Given the description of an element on the screen output the (x, y) to click on. 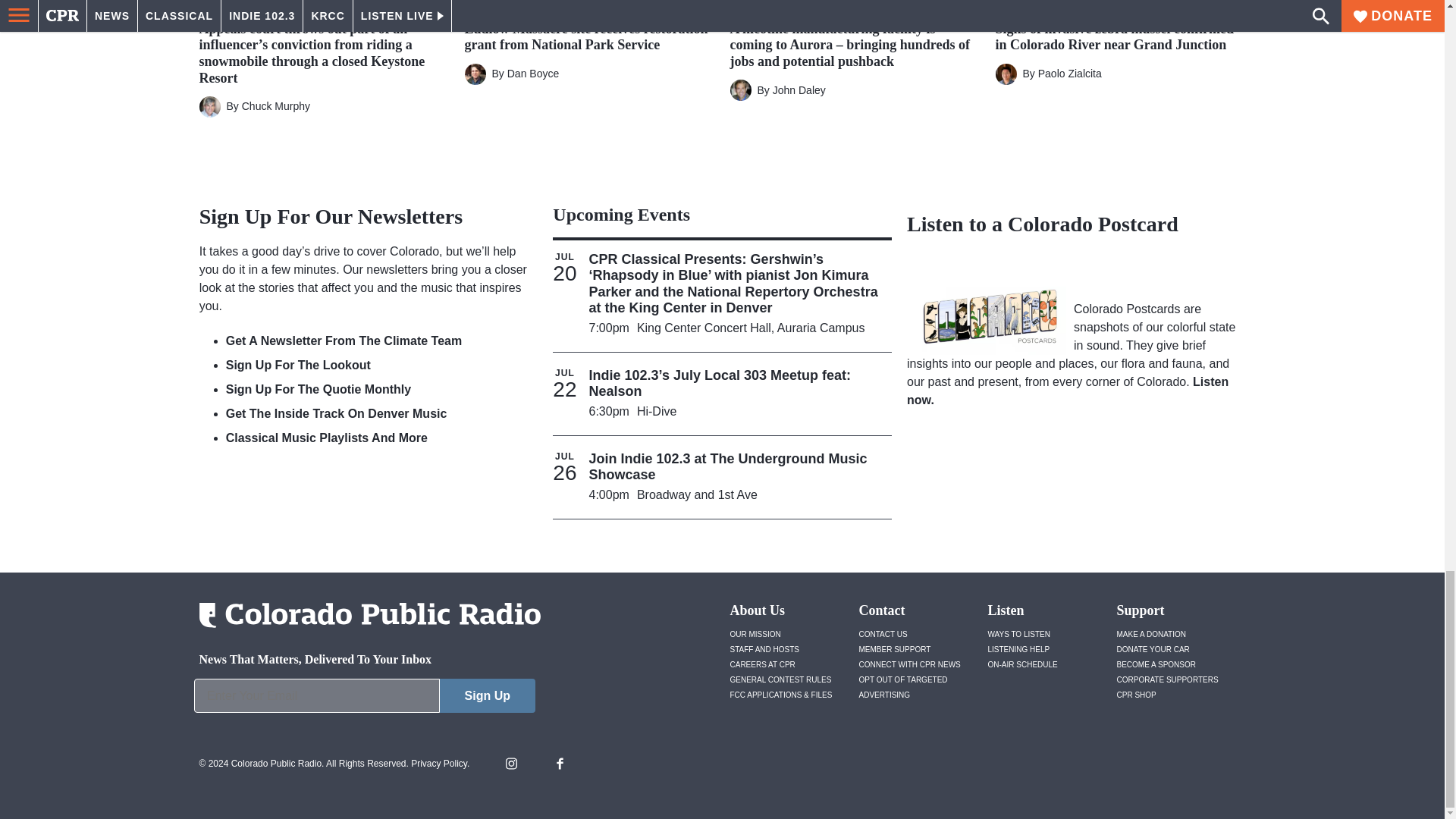
footer (364, 699)
